Given the description of an element on the screen output the (x, y) to click on. 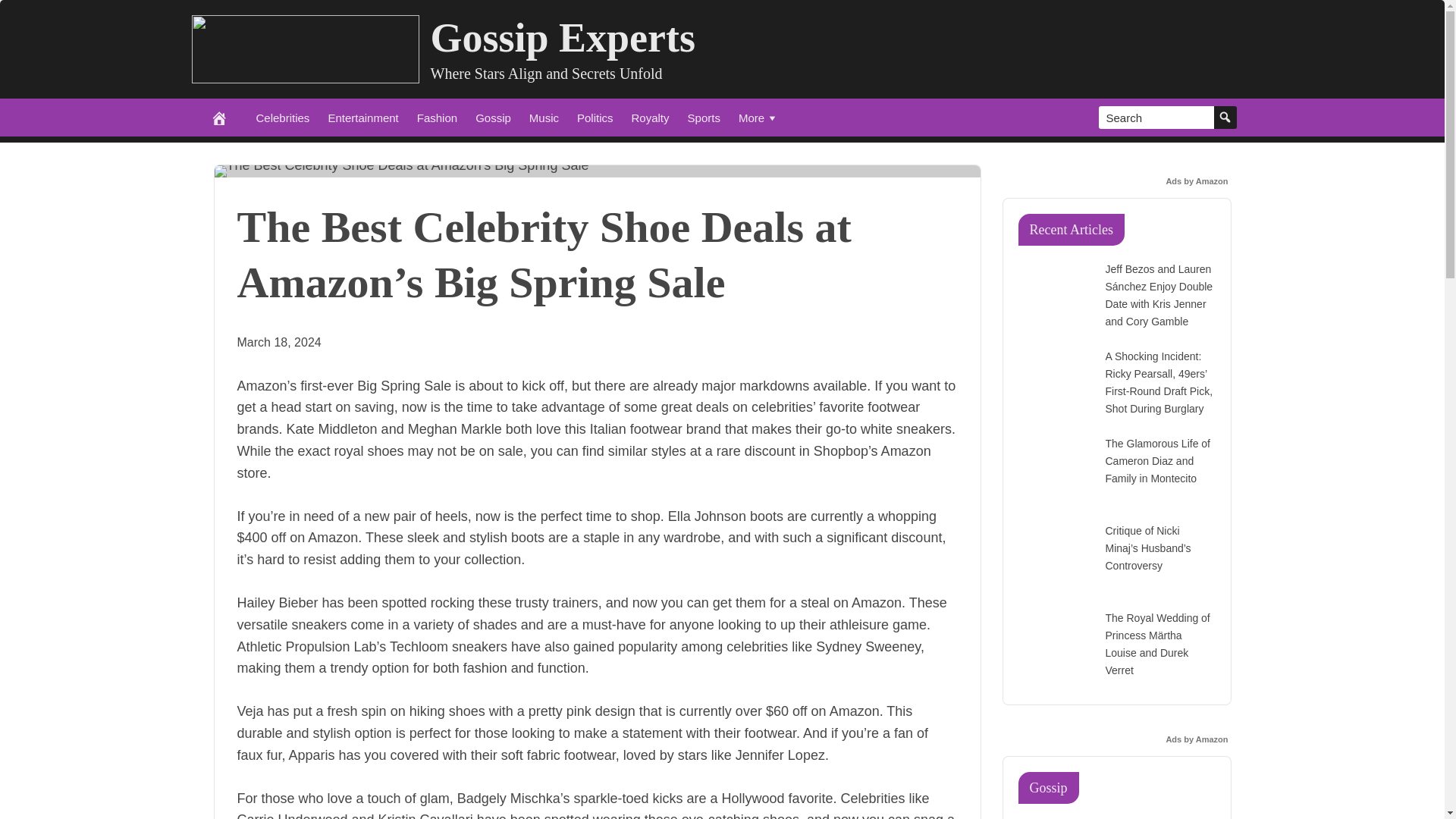
Fashion (436, 117)
More (758, 117)
Politics (595, 117)
Entertainment (362, 117)
Gossip Experts (562, 37)
Music (543, 117)
Celebrities (282, 117)
Gossip (492, 117)
Sports (703, 117)
Royalty (650, 117)
